Given the description of an element on the screen output the (x, y) to click on. 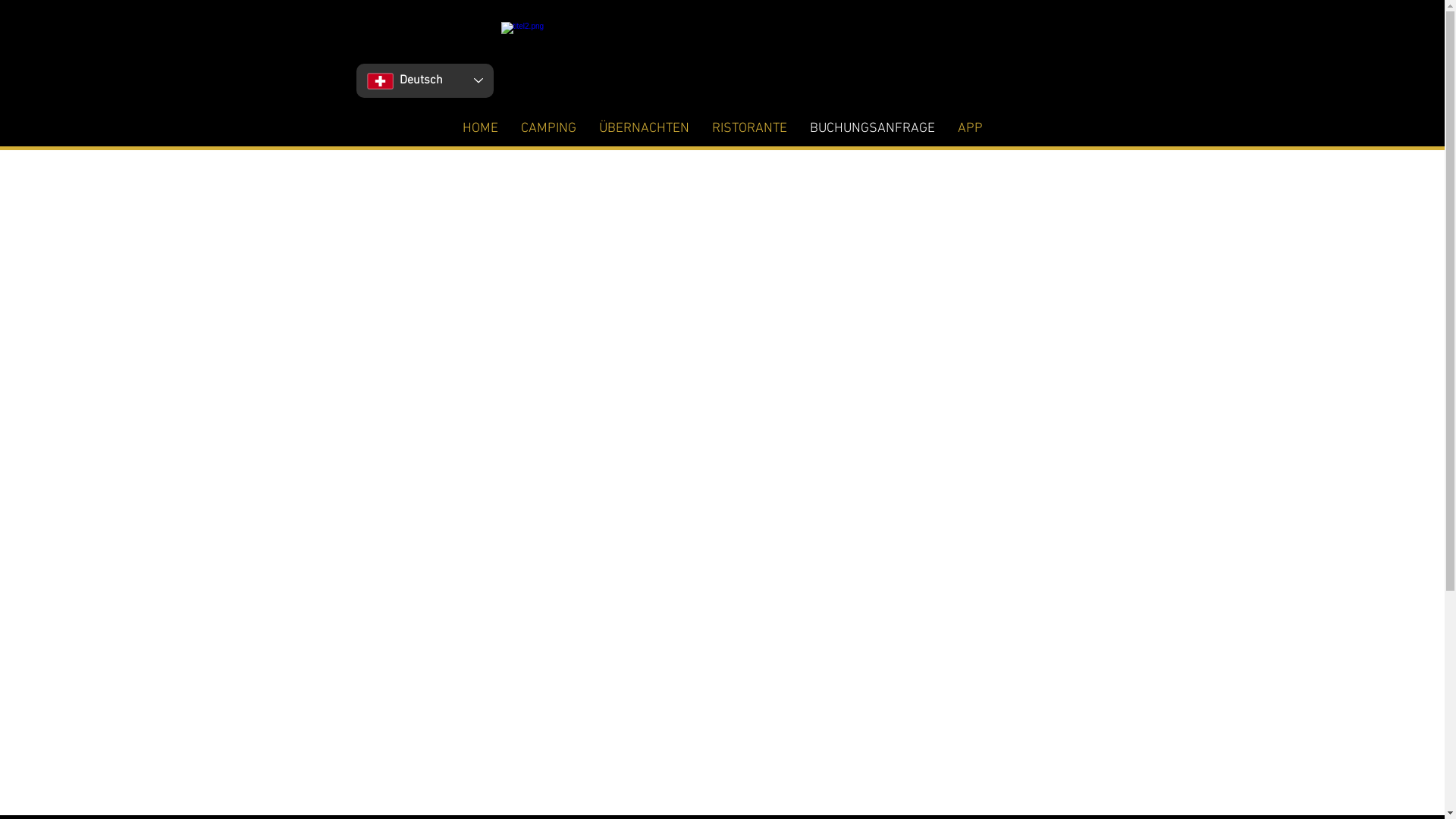
APP Element type: text (970, 128)
Embedded Content Element type: hover (721, 485)
HOME Element type: text (479, 128)
CAMPING Element type: text (548, 128)
BUCHUNGSANFRAGE Element type: text (871, 128)
RISTORANTE Element type: text (749, 128)
